Given the description of an element on the screen output the (x, y) to click on. 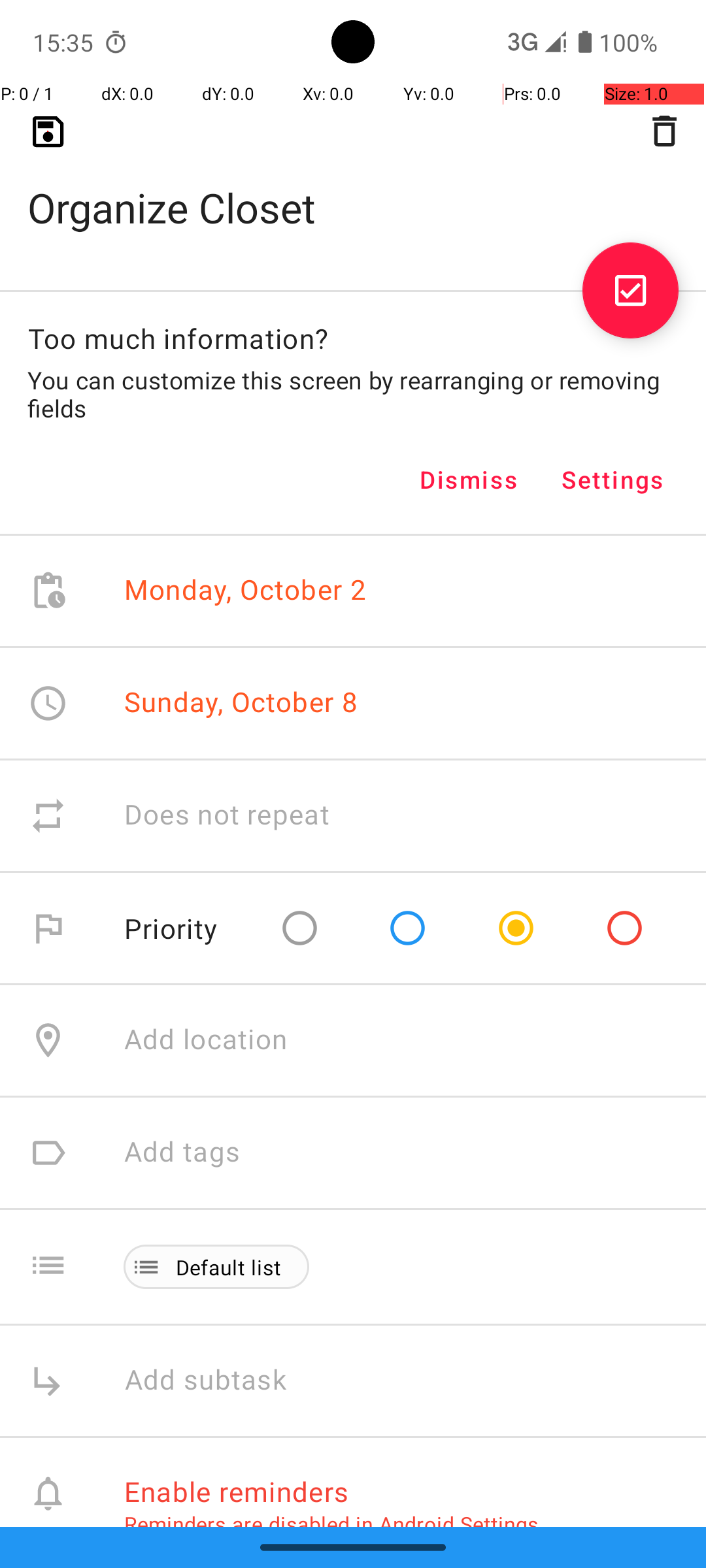
Organize Closet Element type: android.widget.EditText (353, 186)
Sunday, October 8 Element type: android.widget.TextView (240, 700)
Monday, October 2 Element type: android.widget.TextView (245, 590)
